Given the description of an element on the screen output the (x, y) to click on. 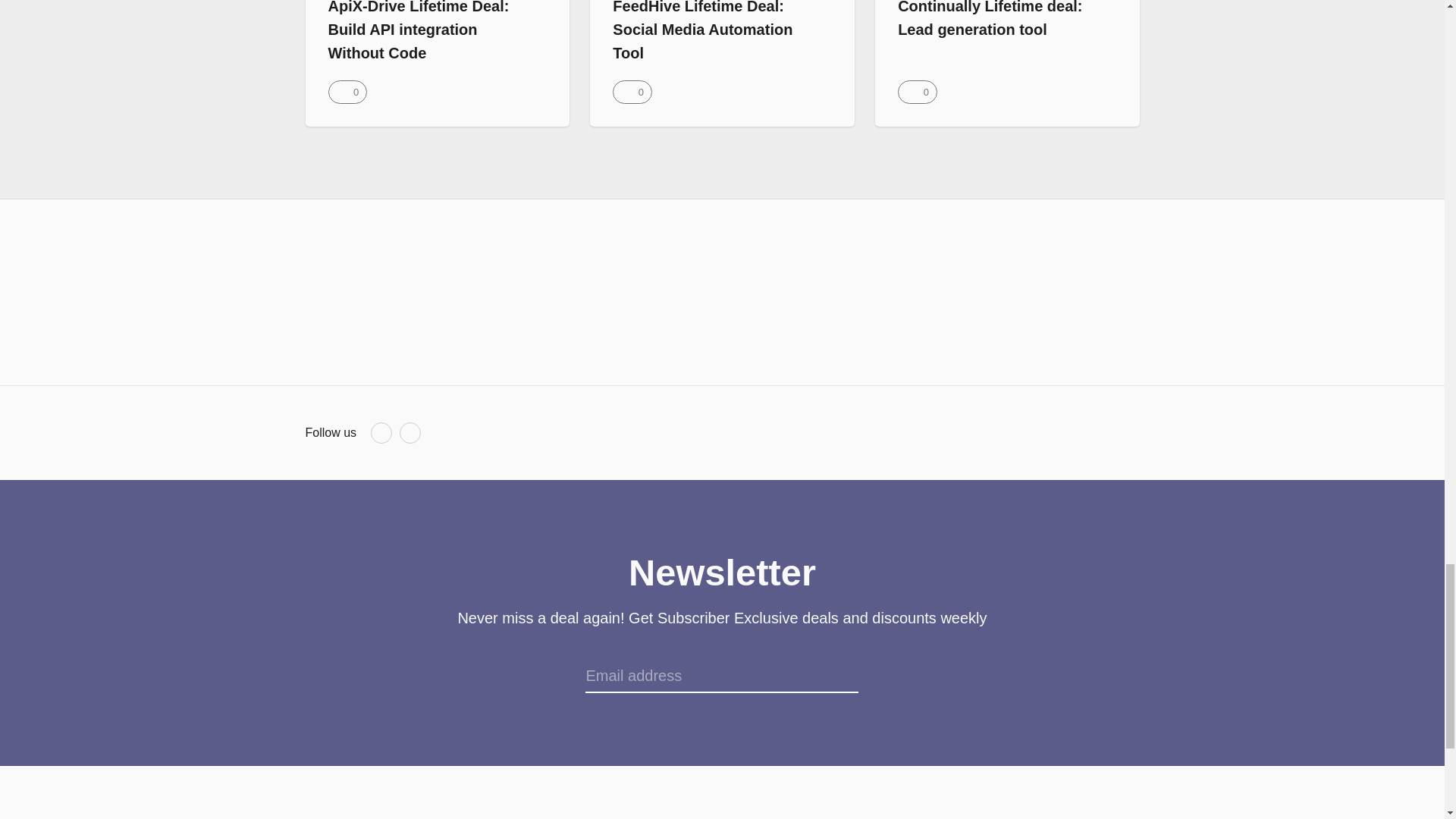
Upvote (917, 92)
Upvote (631, 92)
Upvote (346, 92)
Facebook (381, 432)
Twitter (409, 432)
